Given the description of an element on the screen output the (x, y) to click on. 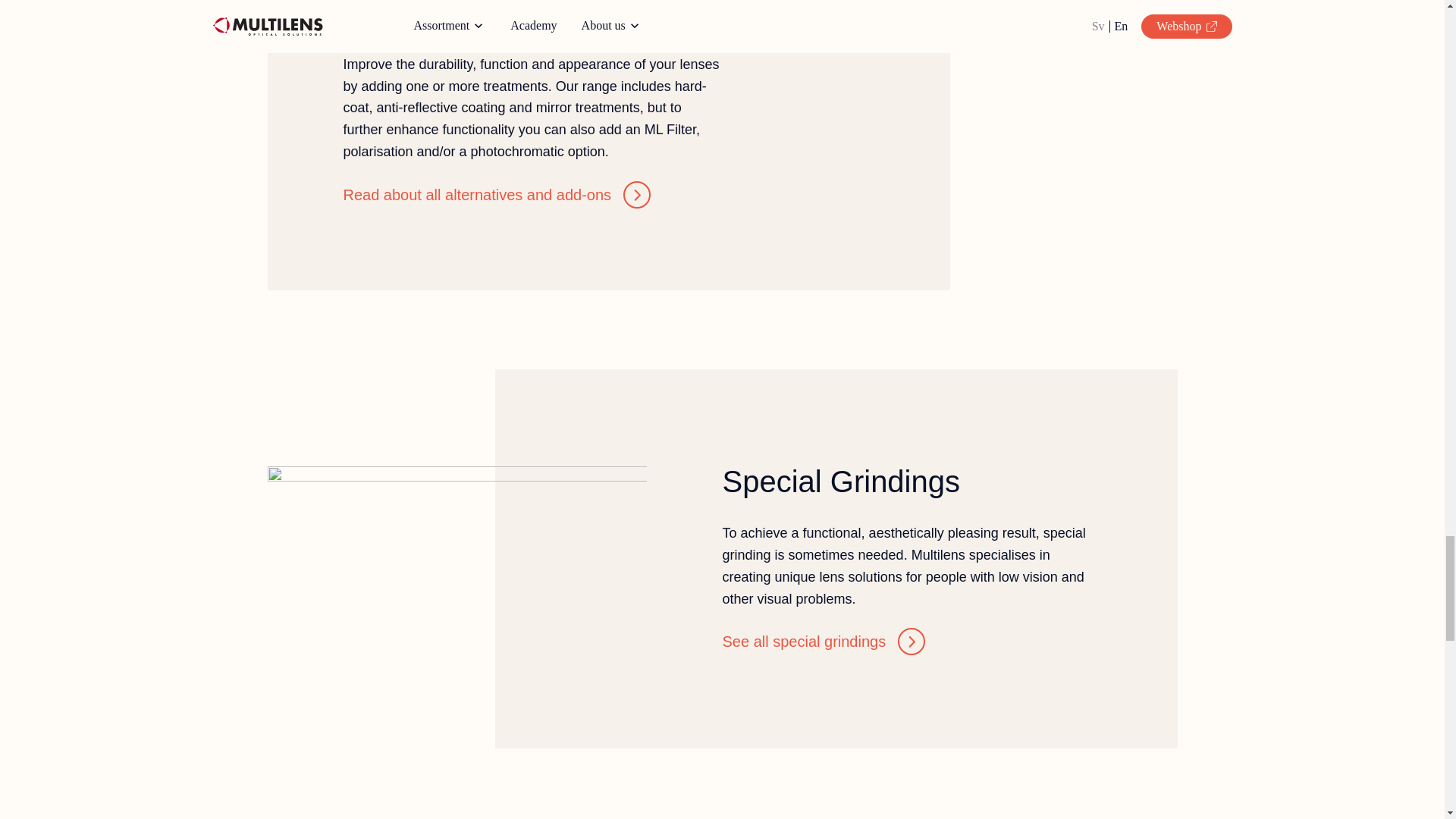
See all special grindings (823, 641)
Read about all alternatives and add-ons (496, 194)
